Given the description of an element on the screen output the (x, y) to click on. 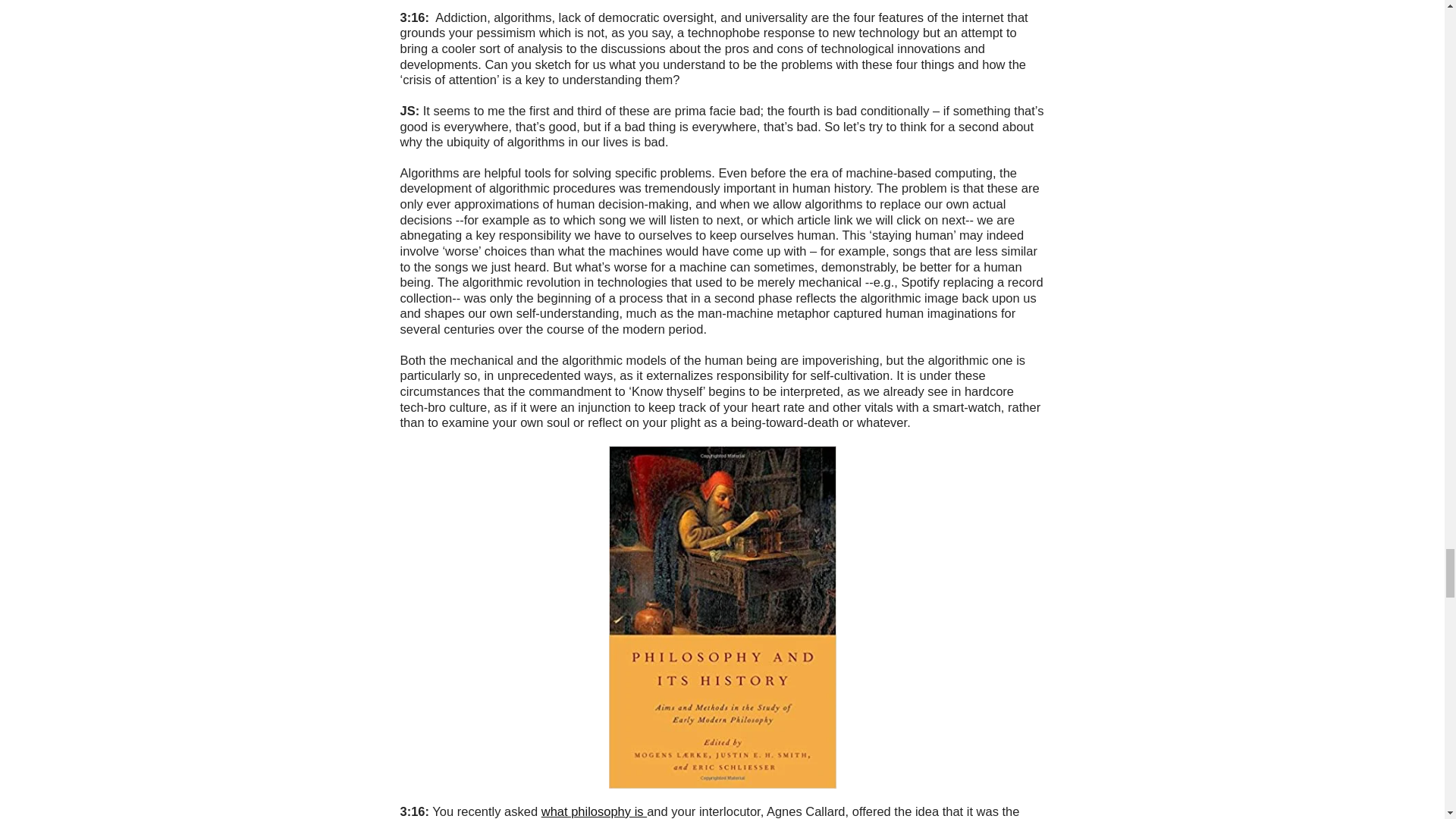
what philosophy is  (593, 811)
